Given the description of an element on the screen output the (x, y) to click on. 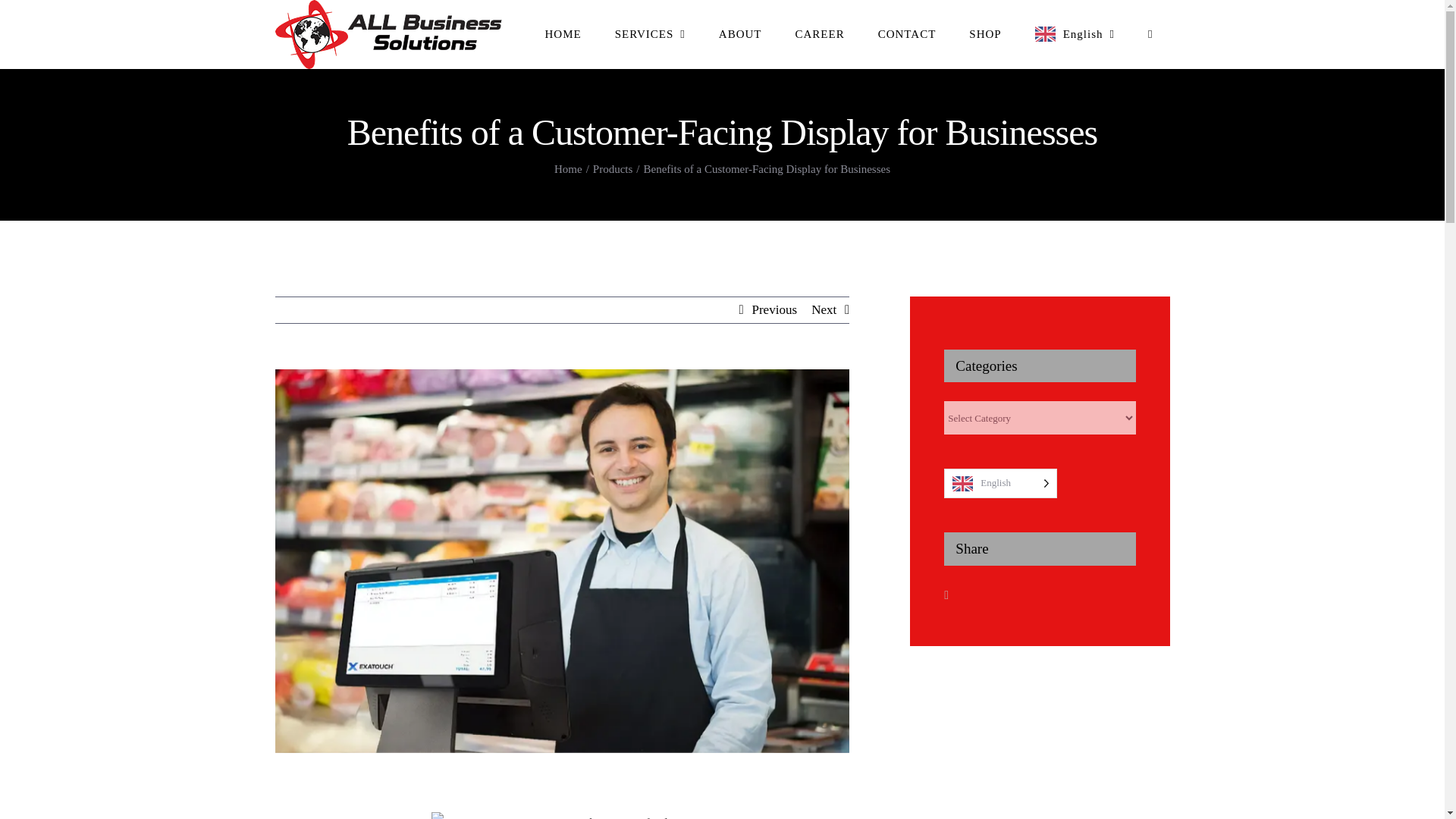
SERVICES (649, 33)
Products (612, 168)
Next (822, 309)
CAREER (818, 33)
Previous (774, 309)
English (1074, 33)
HOME (563, 33)
CONTACT (907, 33)
English (1074, 33)
Home (568, 168)
SHOP (984, 33)
ABOUT (739, 33)
